Given the description of an element on the screen output the (x, y) to click on. 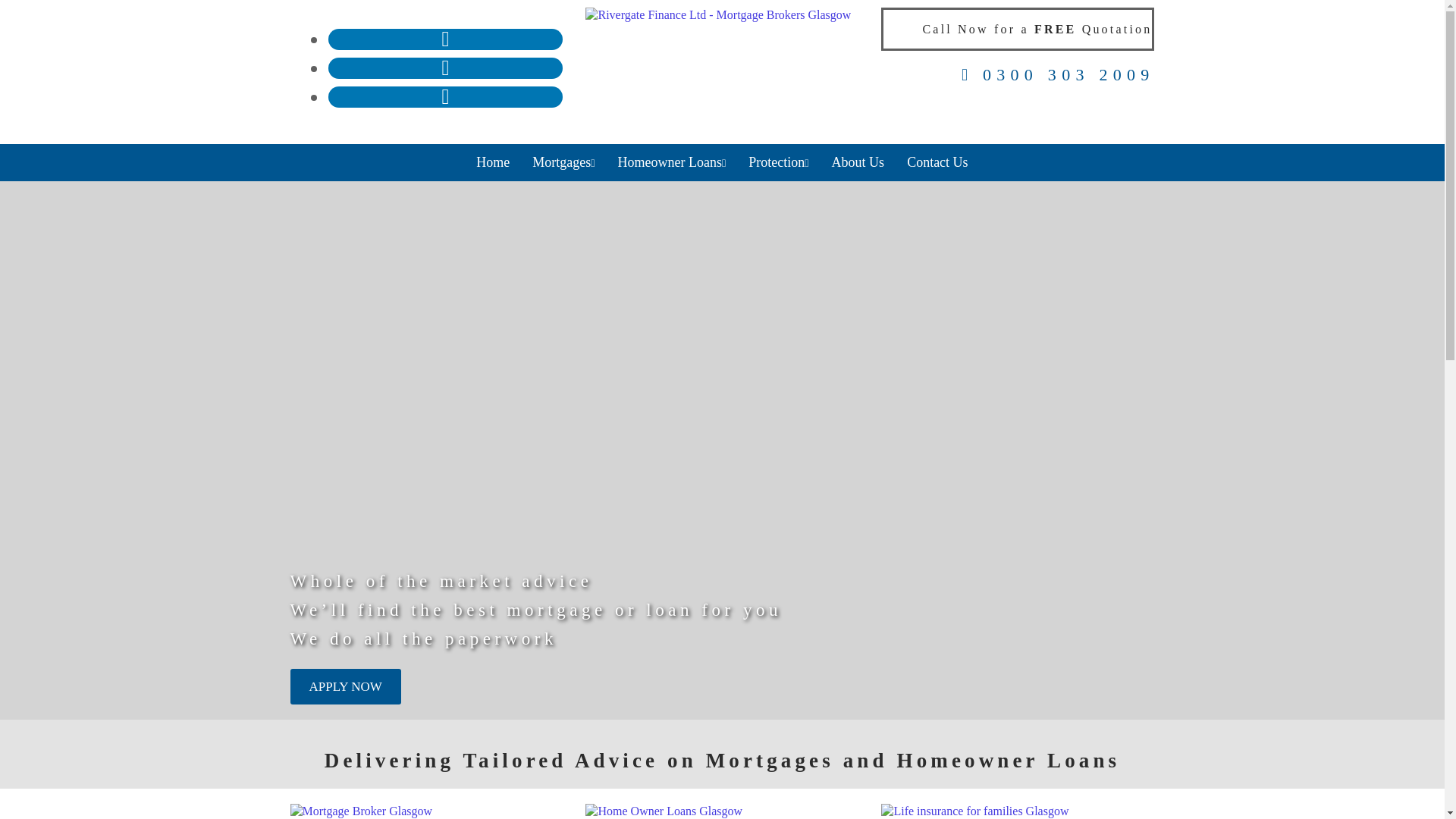
Protection (778, 162)
APPLY NOW (344, 686)
Contact Us (937, 162)
About Us (858, 162)
Home (492, 162)
Homeowner Loans (672, 162)
Mortgages (563, 162)
